Given the description of an element on the screen output the (x, y) to click on. 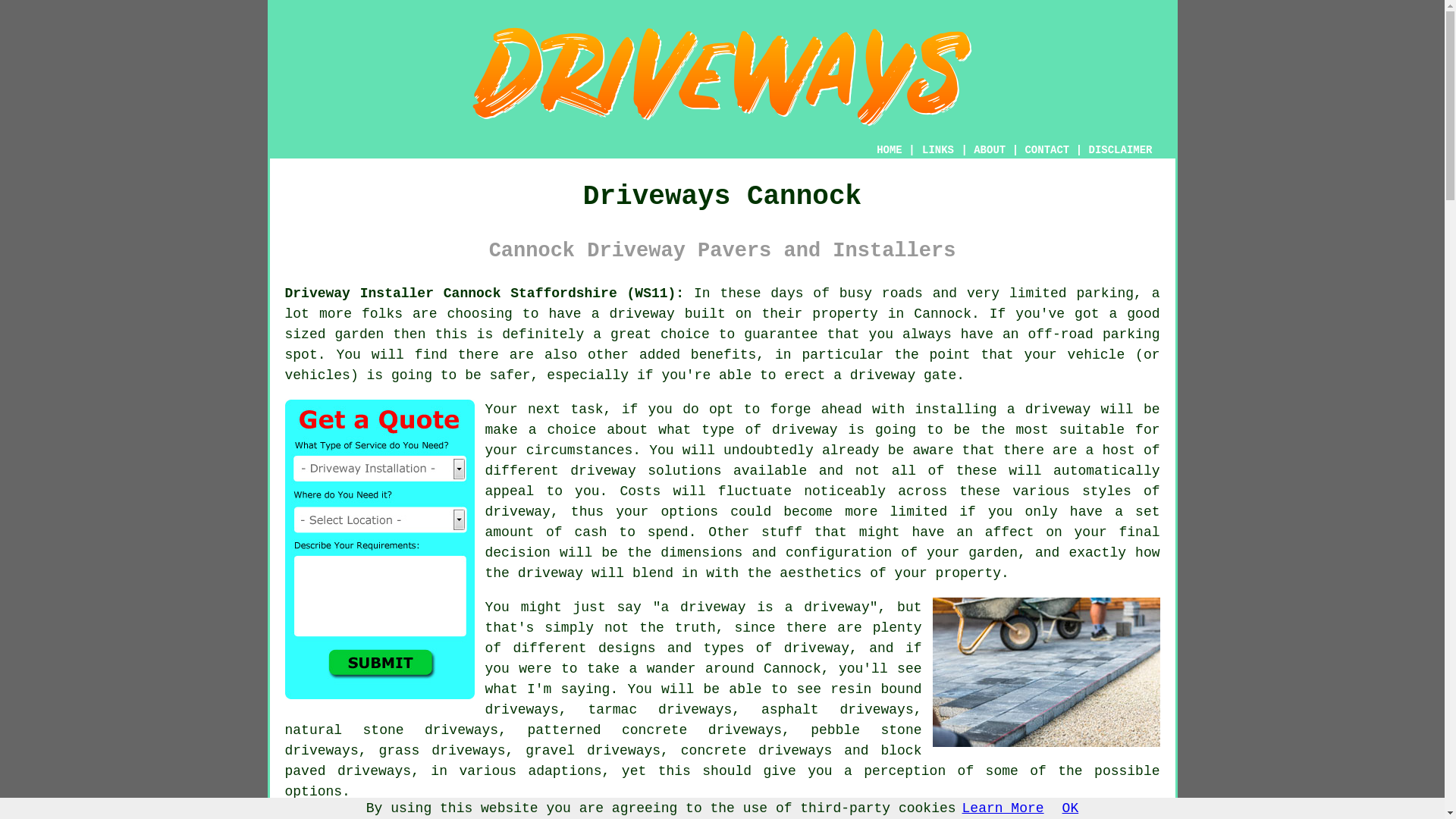
concrete driveways (756, 750)
a driveway gate (894, 375)
HOME (889, 150)
Driveways Cannock Staffordshire (722, 76)
tarmac driveways (660, 709)
a driveway (633, 313)
LINKS (938, 150)
